Given the description of an element on the screen output the (x, y) to click on. 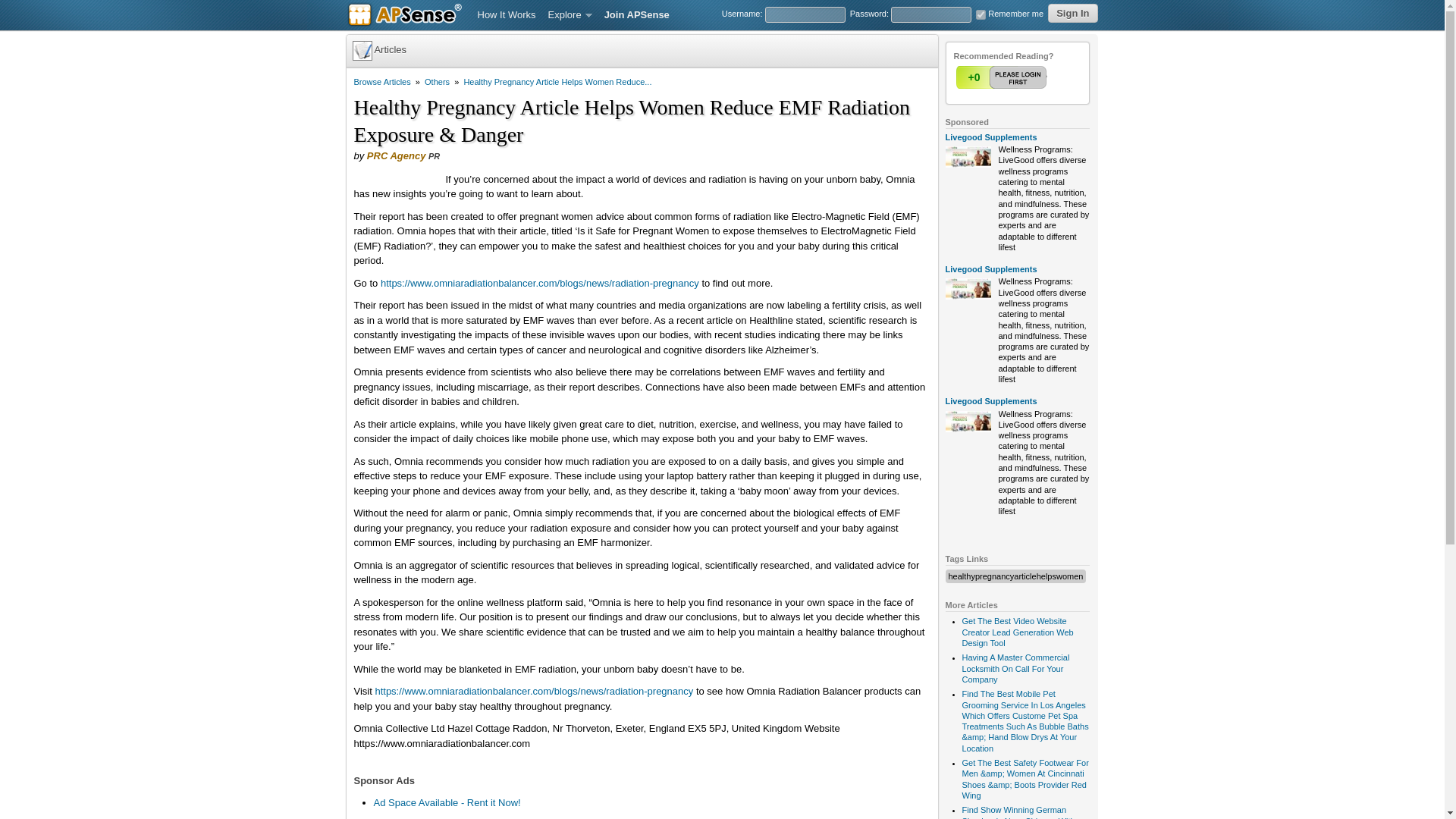
Sign In (1072, 13)
PRC Agency (396, 155)
Browse Articles (381, 81)
Healthy Pregnancy Article Helps Women Reduce... (556, 81)
Vote Up (1002, 77)
Votes Up (973, 77)
Livegood Supplements (990, 268)
Vote Down (1031, 77)
-1 (1031, 77)
1 (1002, 77)
1 (980, 14)
Livegood Supplements (990, 136)
